Given the description of an element on the screen output the (x, y) to click on. 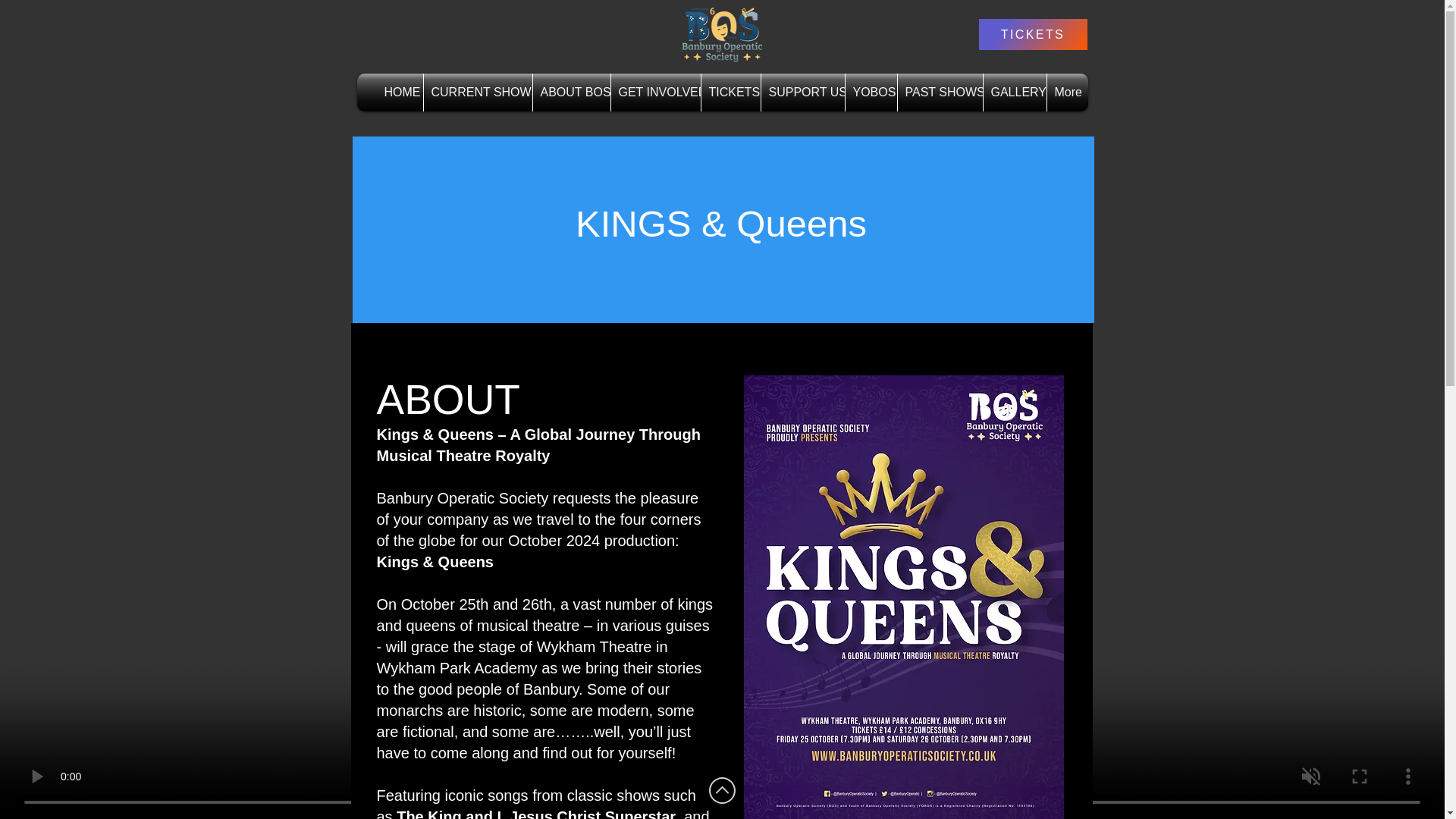
GALLERY (1013, 92)
HOME (398, 92)
TICKETS (730, 92)
YOBOS (870, 92)
GET INVOLVED (655, 92)
TICKETS (1032, 33)
SUPPORT US (802, 92)
